Given the description of an element on the screen output the (x, y) to click on. 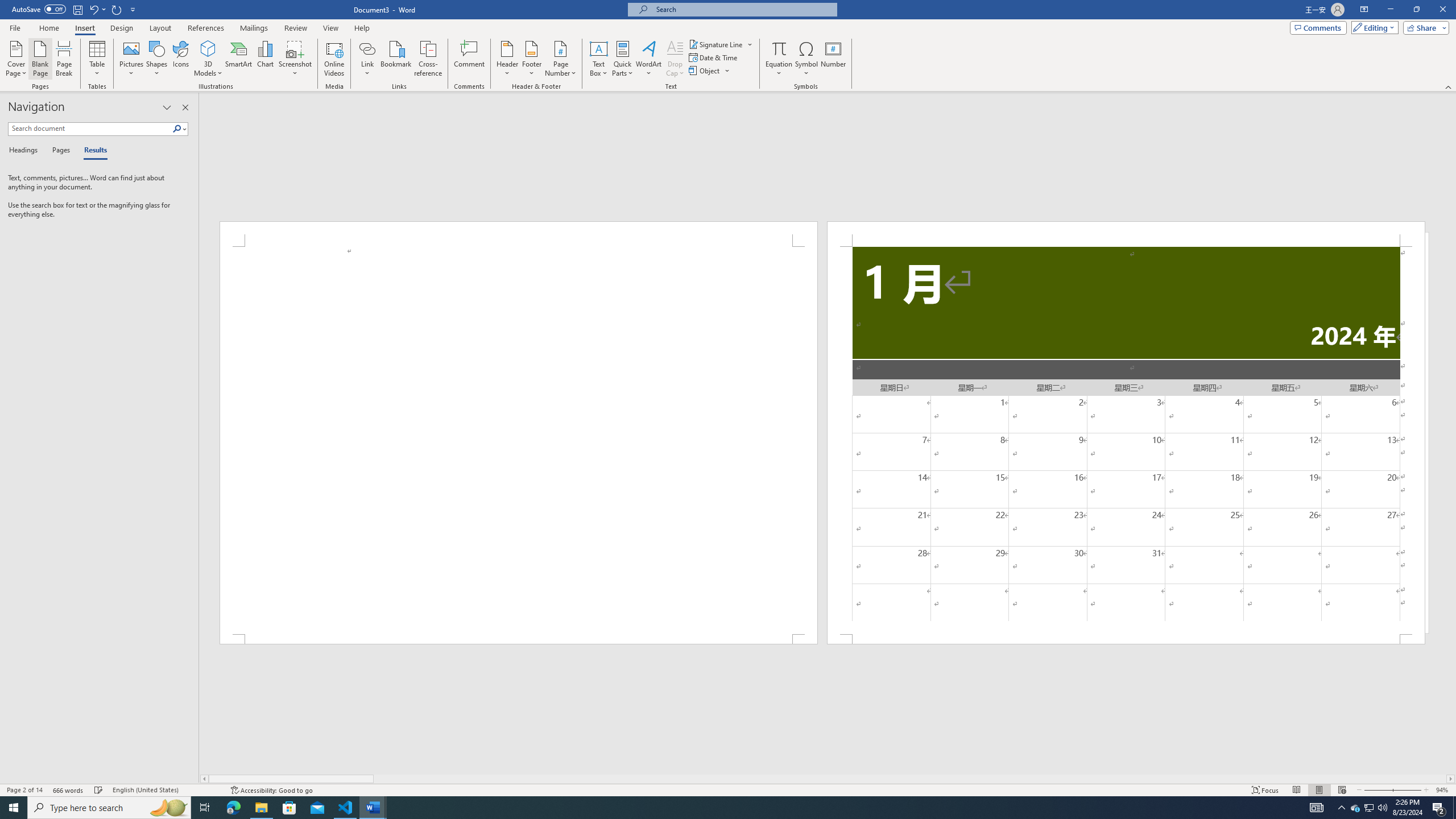
Shapes (156, 58)
Equation (778, 58)
Quick Parts (622, 58)
